Given the description of an element on the screen output the (x, y) to click on. 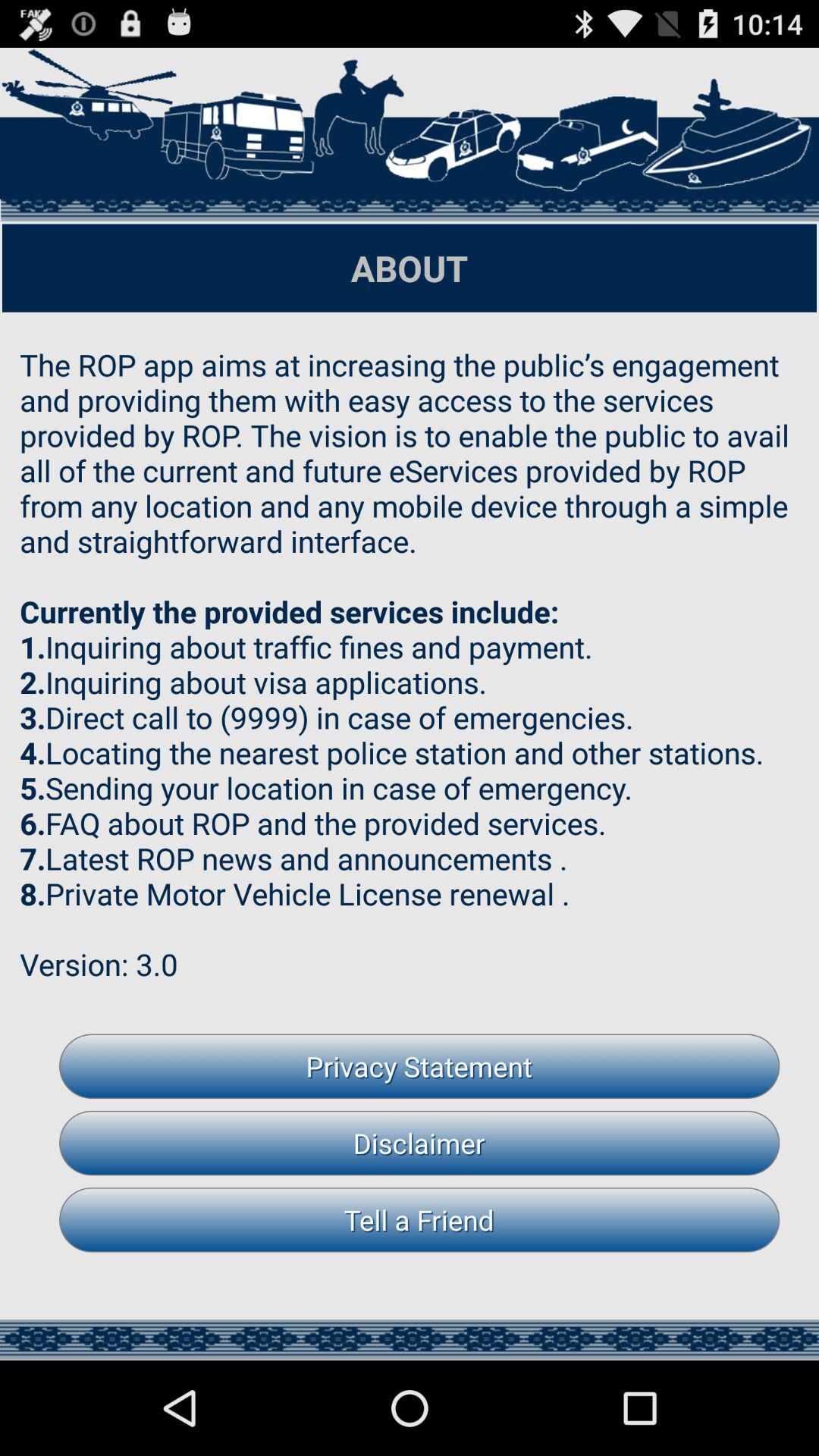
select tell a friend button (419, 1219)
